Given the description of an element on the screen output the (x, y) to click on. 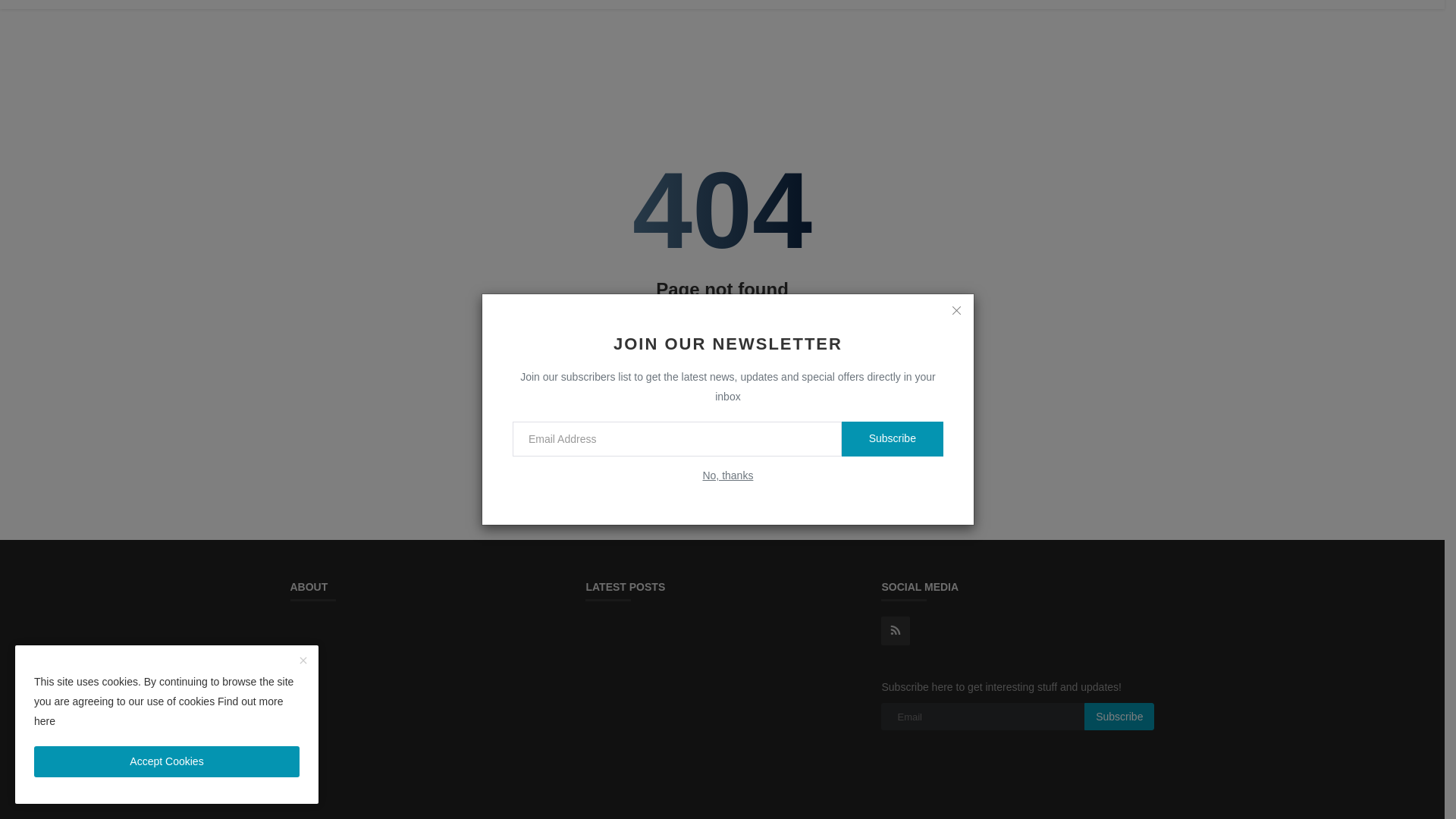
HOME (461, 4)
Accept Cookies (166, 685)
dark (28, 205)
GALLERY (521, 4)
No, thanks (726, 399)
Subscribe (1119, 716)
Subscribe (892, 362)
Find out more here (157, 634)
